Given the description of an element on the screen output the (x, y) to click on. 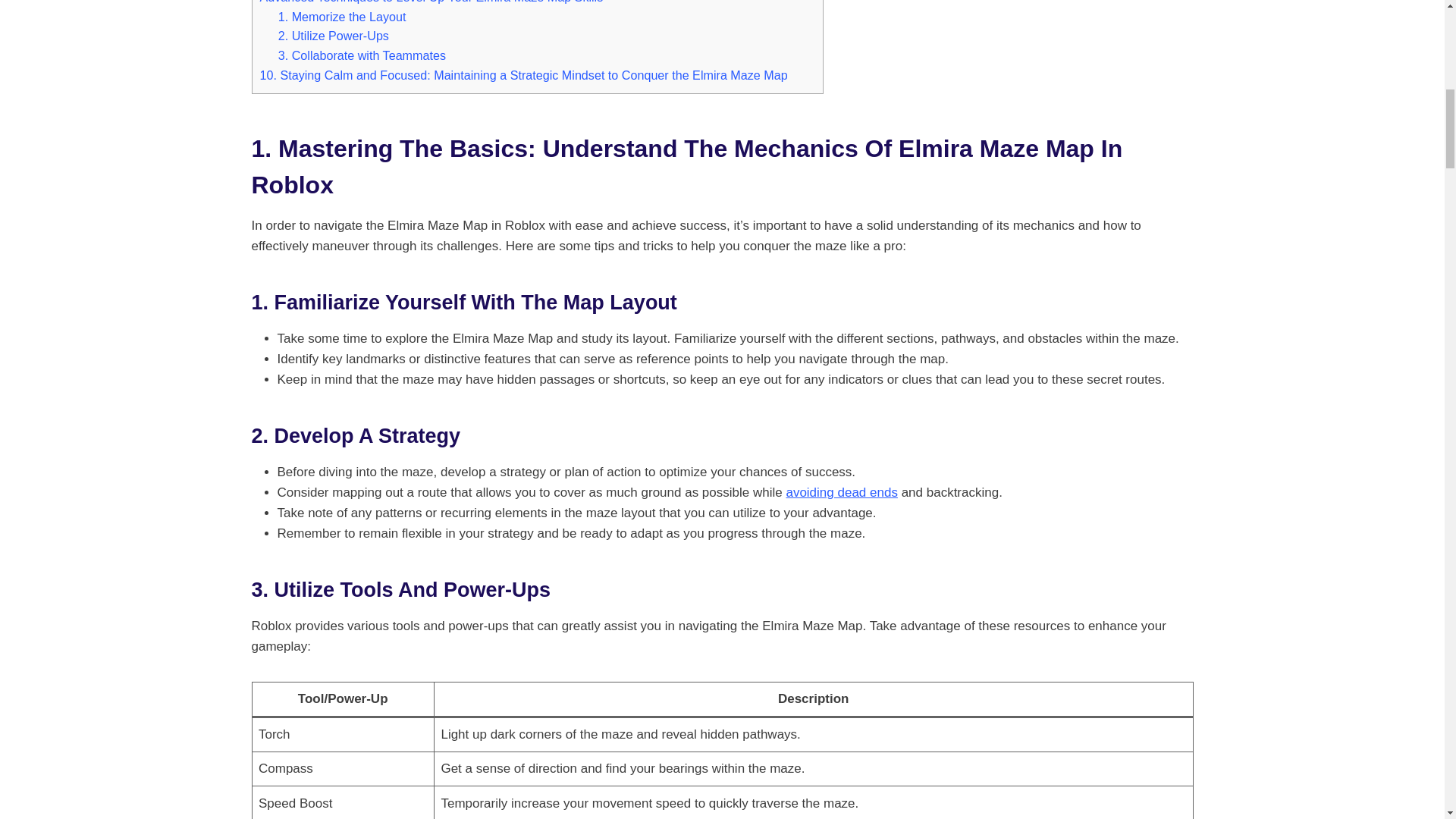
1. Memorize the Layout (342, 16)
Flee the Facility Roblox Script - Master the Art of Escape! (841, 492)
2. Utilize Power-Ups (333, 35)
Advanced Techniques to Level Up Your Elmira Maze Map Skills (430, 2)
